Given the description of an element on the screen output the (x, y) to click on. 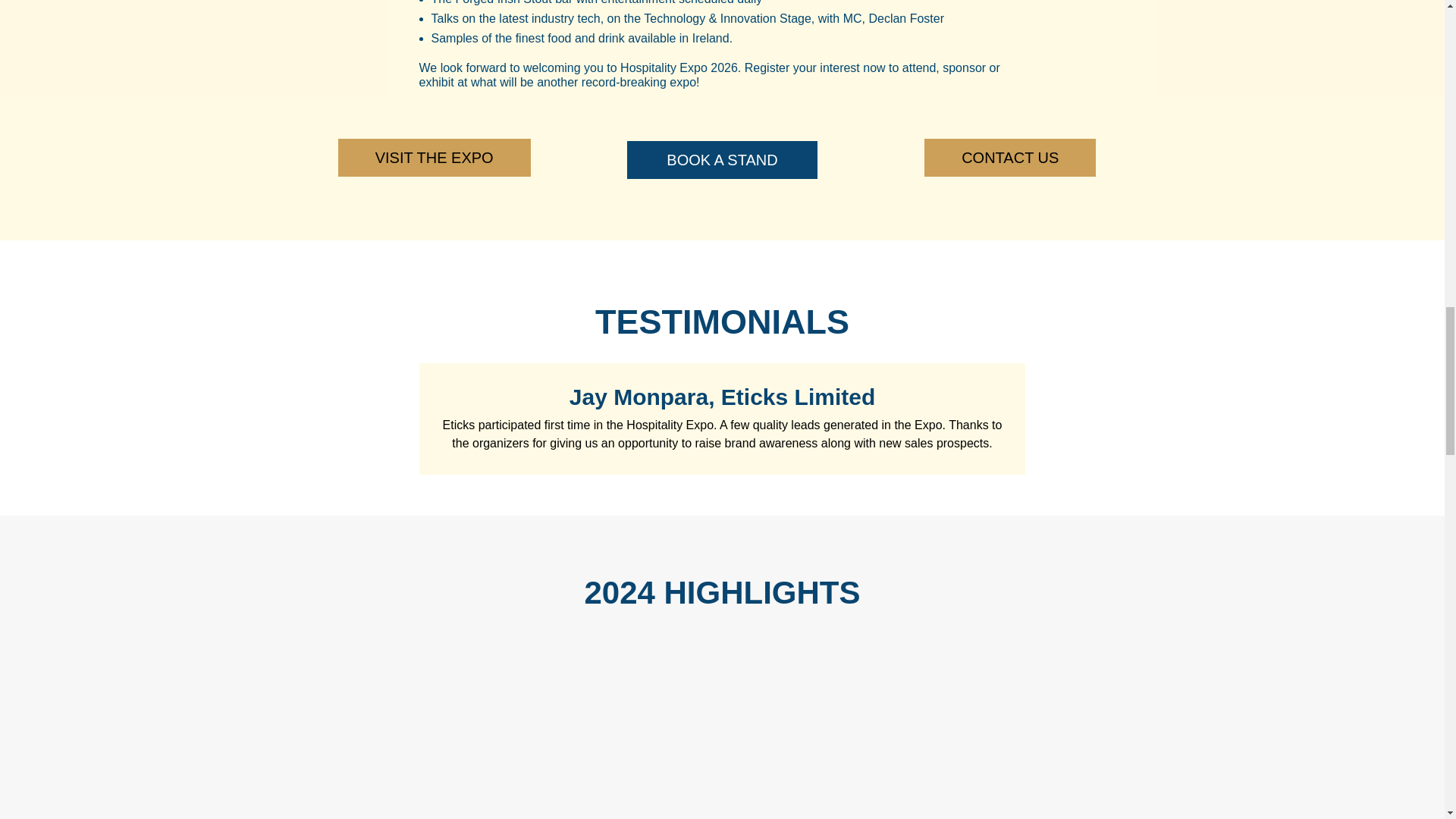
CONTACT US (1010, 157)
BOOK A STAND (721, 159)
VISIT THE EXPO (434, 157)
Hospitality Expo 2024 - Highlights Part 1 (505, 736)
Hospitality Expo 2024 -  Highlights Part 2 (937, 736)
